Given the description of an element on the screen output the (x, y) to click on. 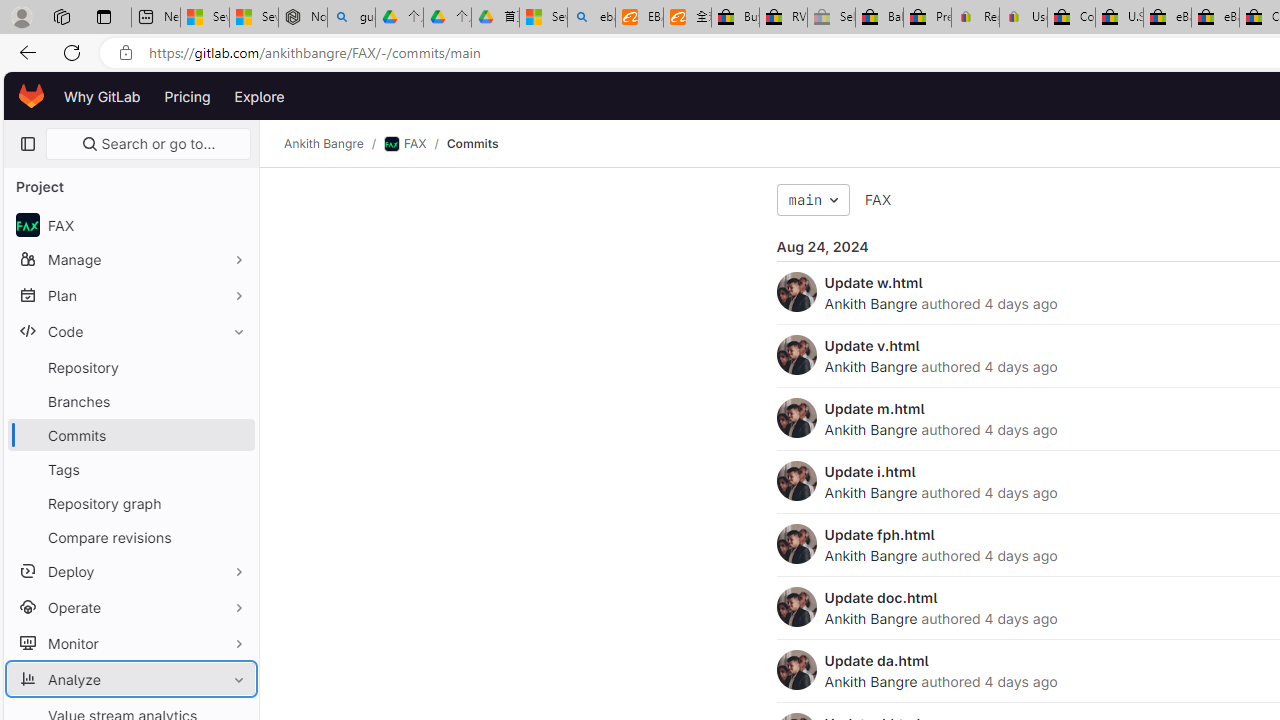
Update m.html (874, 408)
Update da.html (876, 660)
Register: Create a personal eBay account (975, 17)
Monitor (130, 642)
Plan (130, 295)
Update v.html (872, 345)
Tags (130, 468)
FAX (878, 199)
Update fph.html (879, 534)
